Given the description of an element on the screen output the (x, y) to click on. 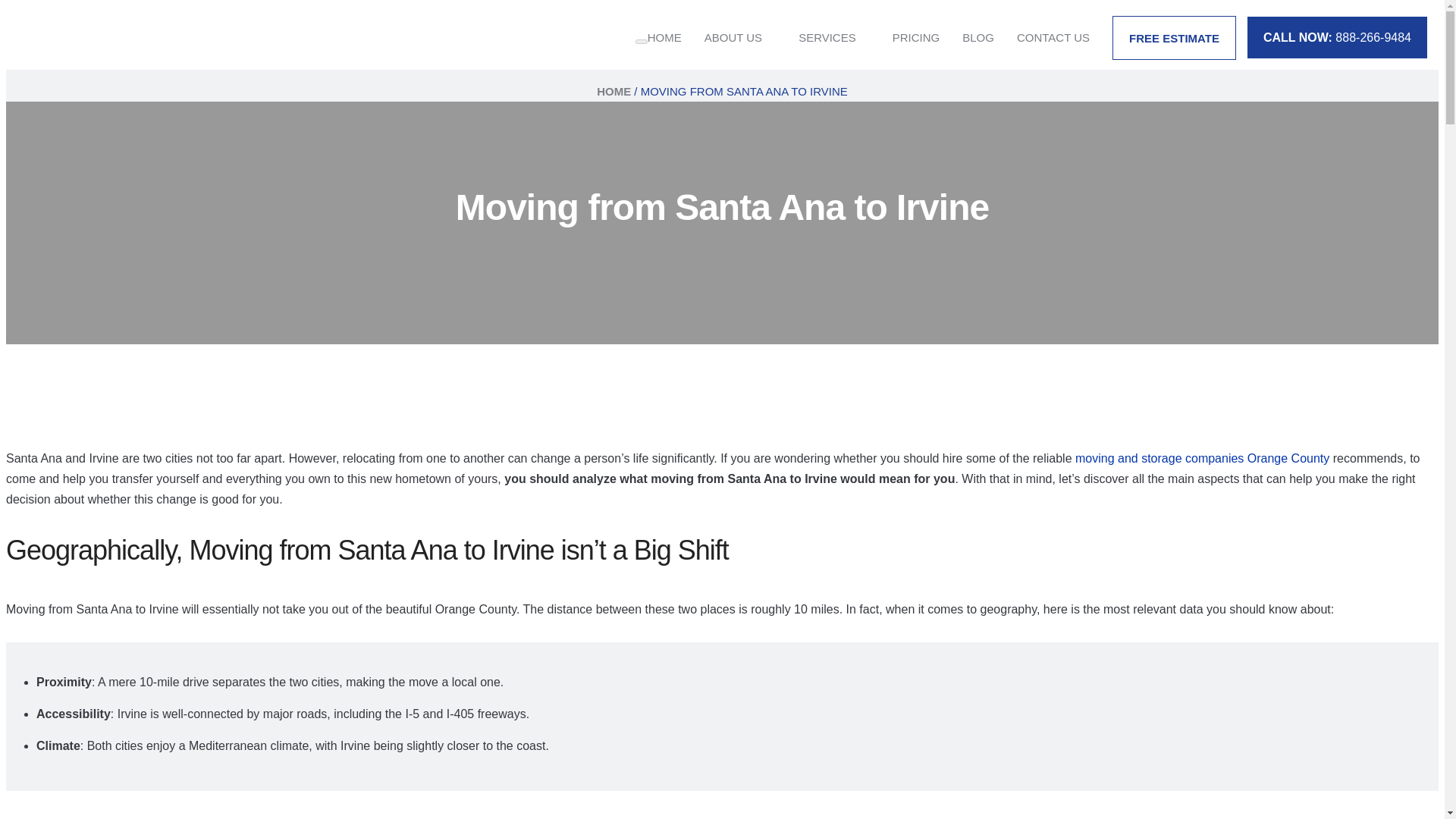
HOME (613, 91)
PRICING (916, 36)
CONTACT US (1052, 36)
SERVICES (826, 36)
FREE ESTIMATE (1174, 36)
CALL NOW: 888-266-9484 (1336, 37)
ABOUT US (732, 36)
moving and storage companies Orange County (1202, 458)
